Given the description of an element on the screen output the (x, y) to click on. 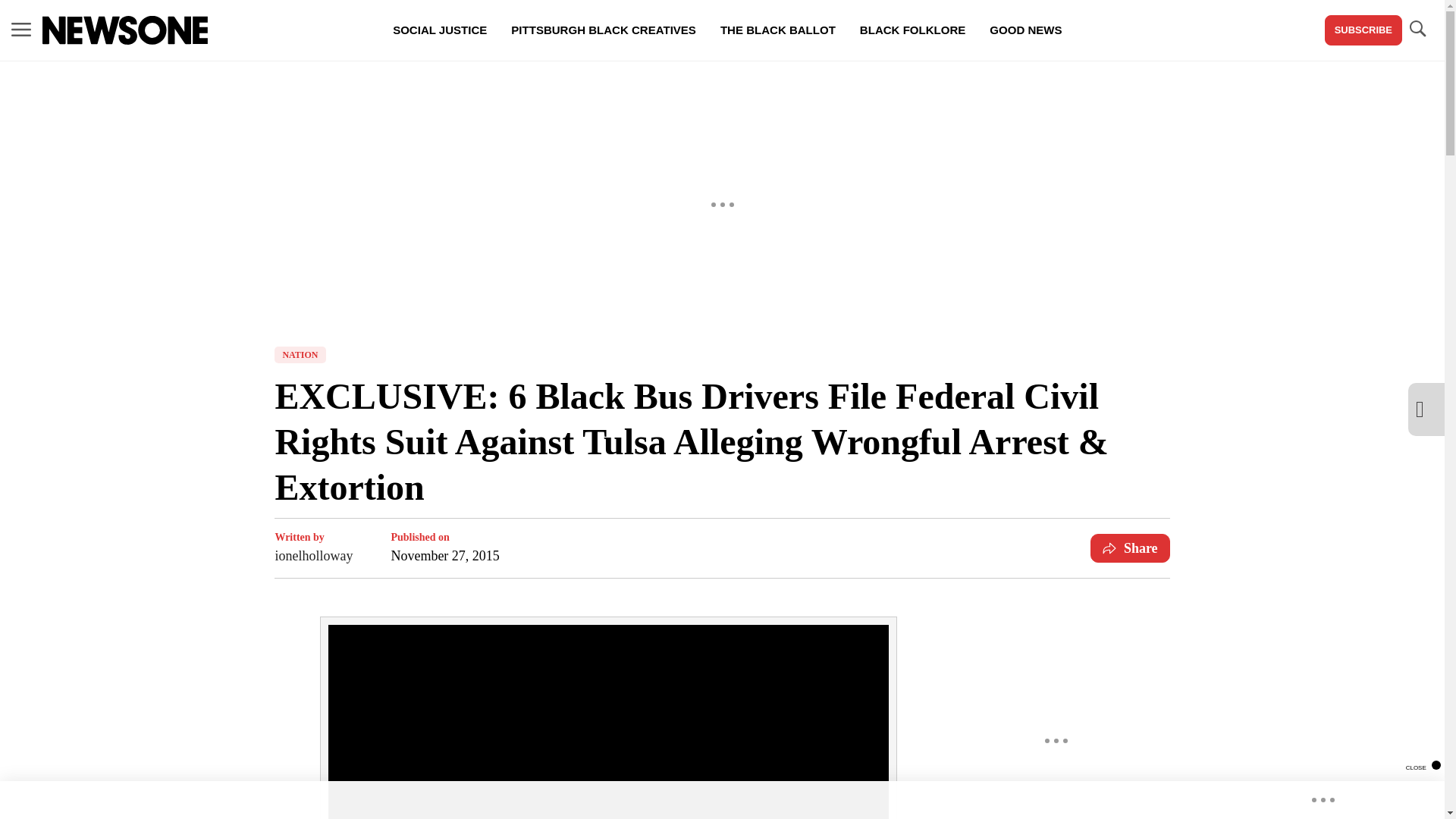
MENU (20, 30)
THE BLACK BALLOT (777, 30)
PITTSBURGH BLACK CREATIVES (603, 30)
Share (1130, 547)
ionelholloway (313, 555)
MENU (20, 29)
SUBSCRIBE (1363, 30)
NATION (299, 354)
GOOD NEWS (1025, 30)
TOGGLE SEARCH (1417, 28)
BLACK FOLKLORE (911, 30)
SOCIAL JUSTICE (439, 30)
TOGGLE SEARCH (1417, 30)
